Given the description of an element on the screen output the (x, y) to click on. 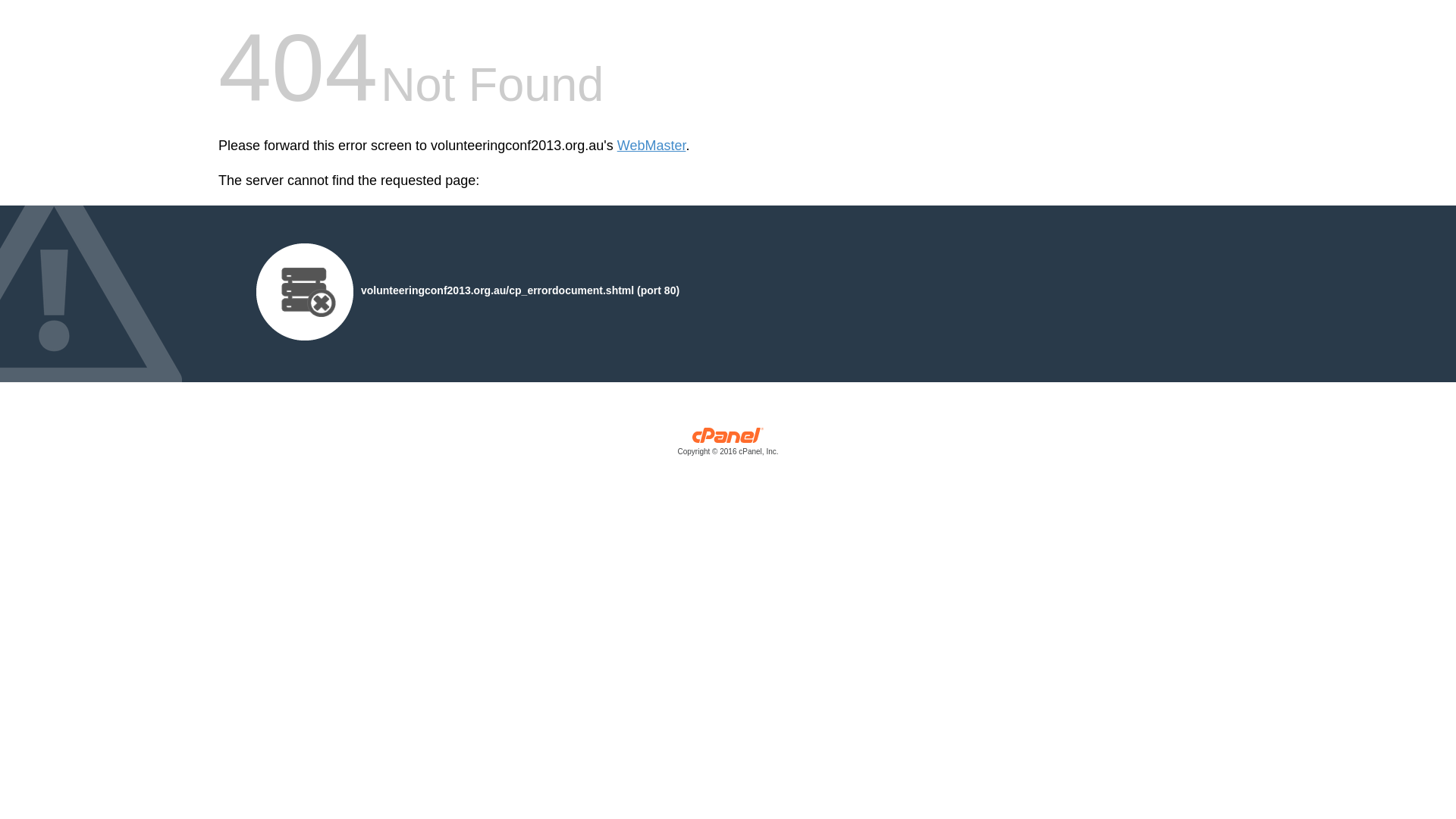
WebMaster Element type: text (651, 145)
